Given the description of an element on the screen output the (x, y) to click on. 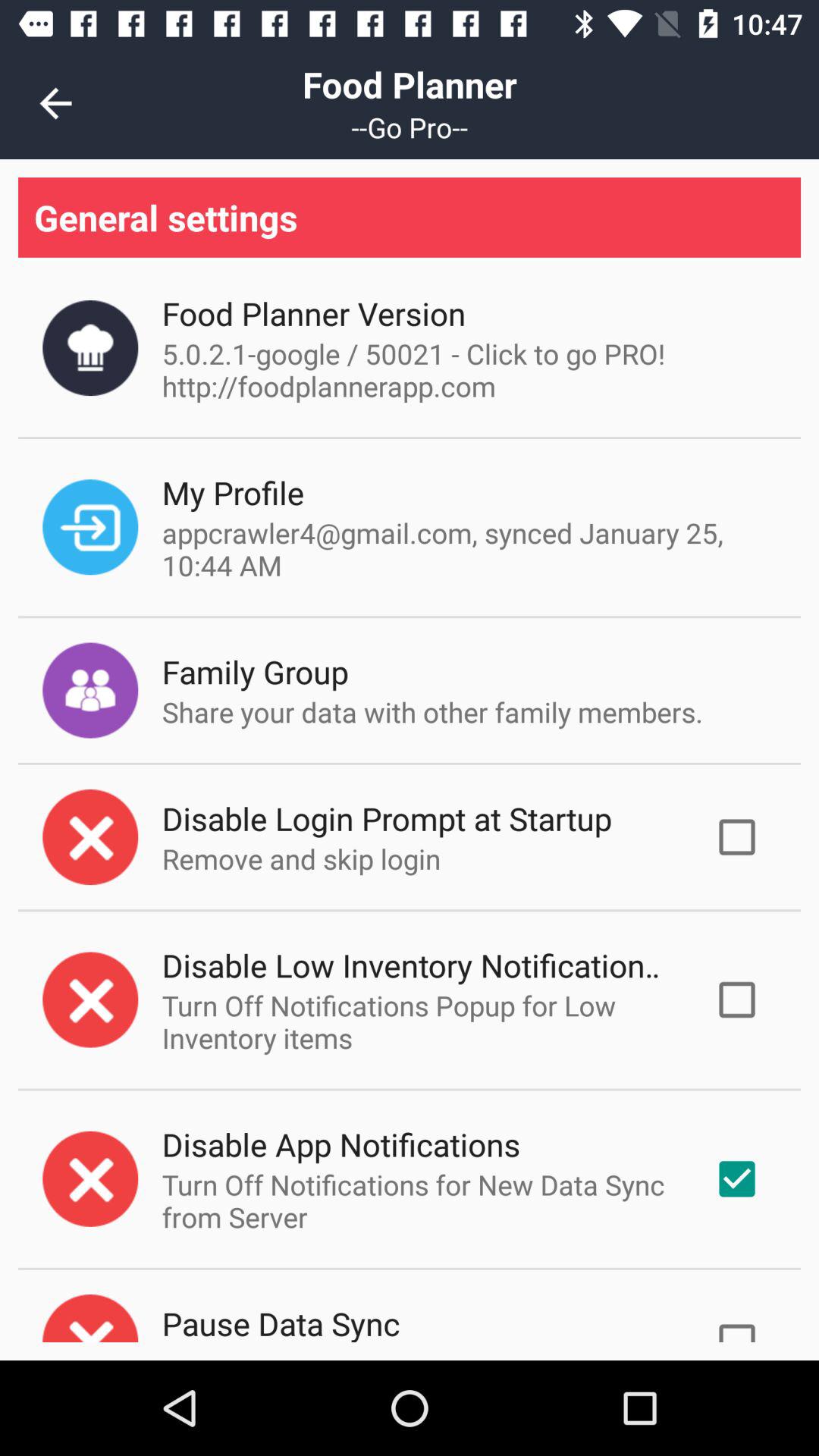
jump to appcrawler4 gmail com item (465, 549)
